Given the description of an element on the screen output the (x, y) to click on. 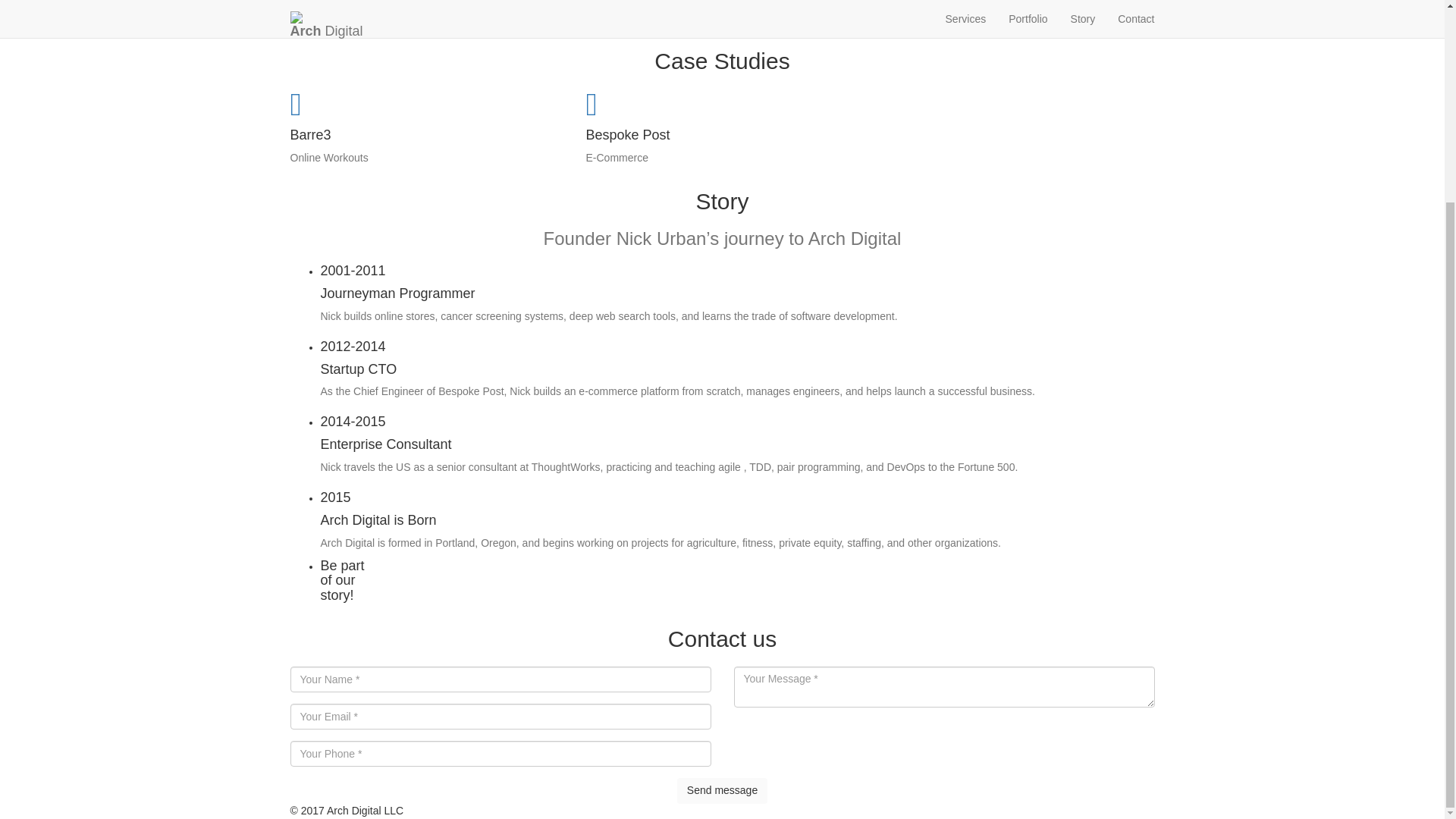
Send message (722, 790)
